Given the description of an element on the screen output the (x, y) to click on. 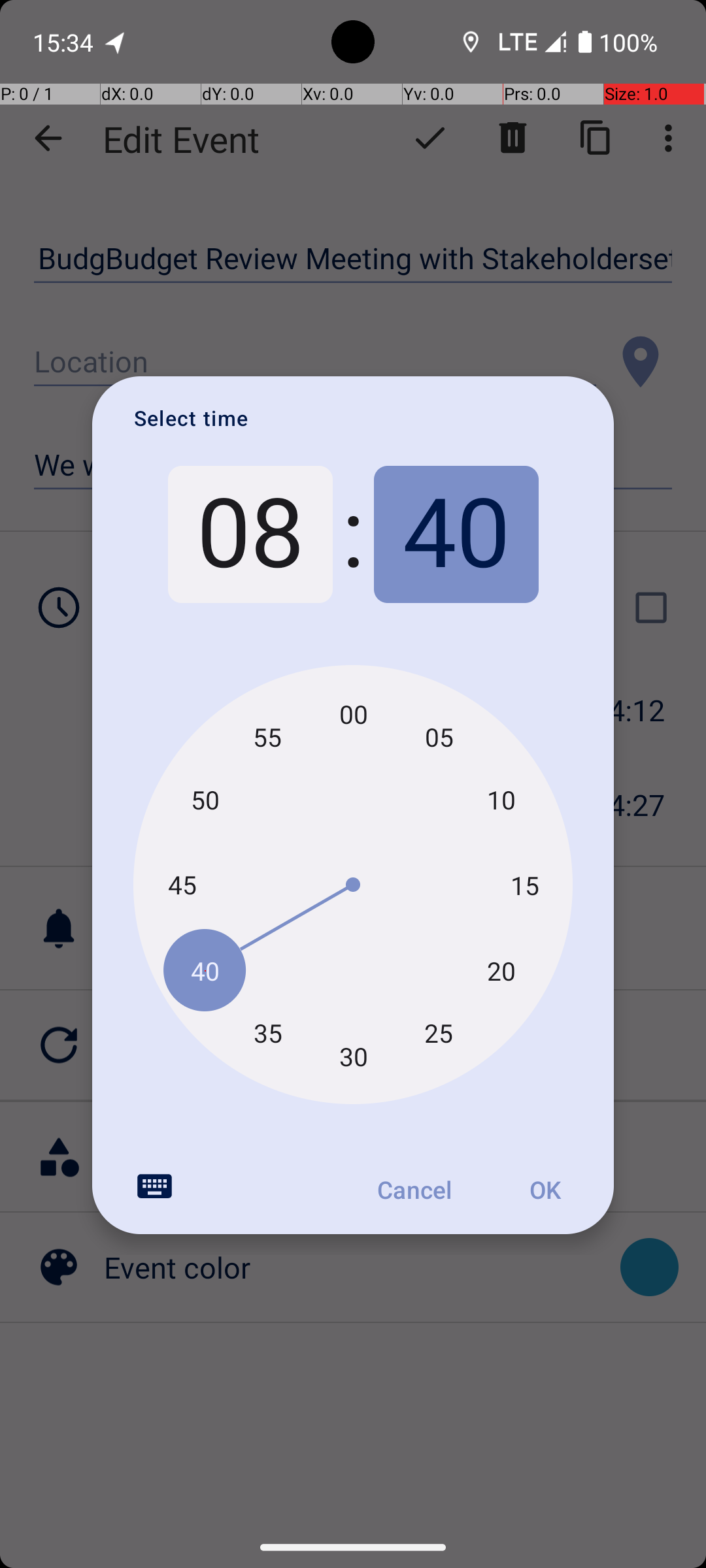
08 Element type: android.view.View (250, 534)
